Given the description of an element on the screen output the (x, y) to click on. 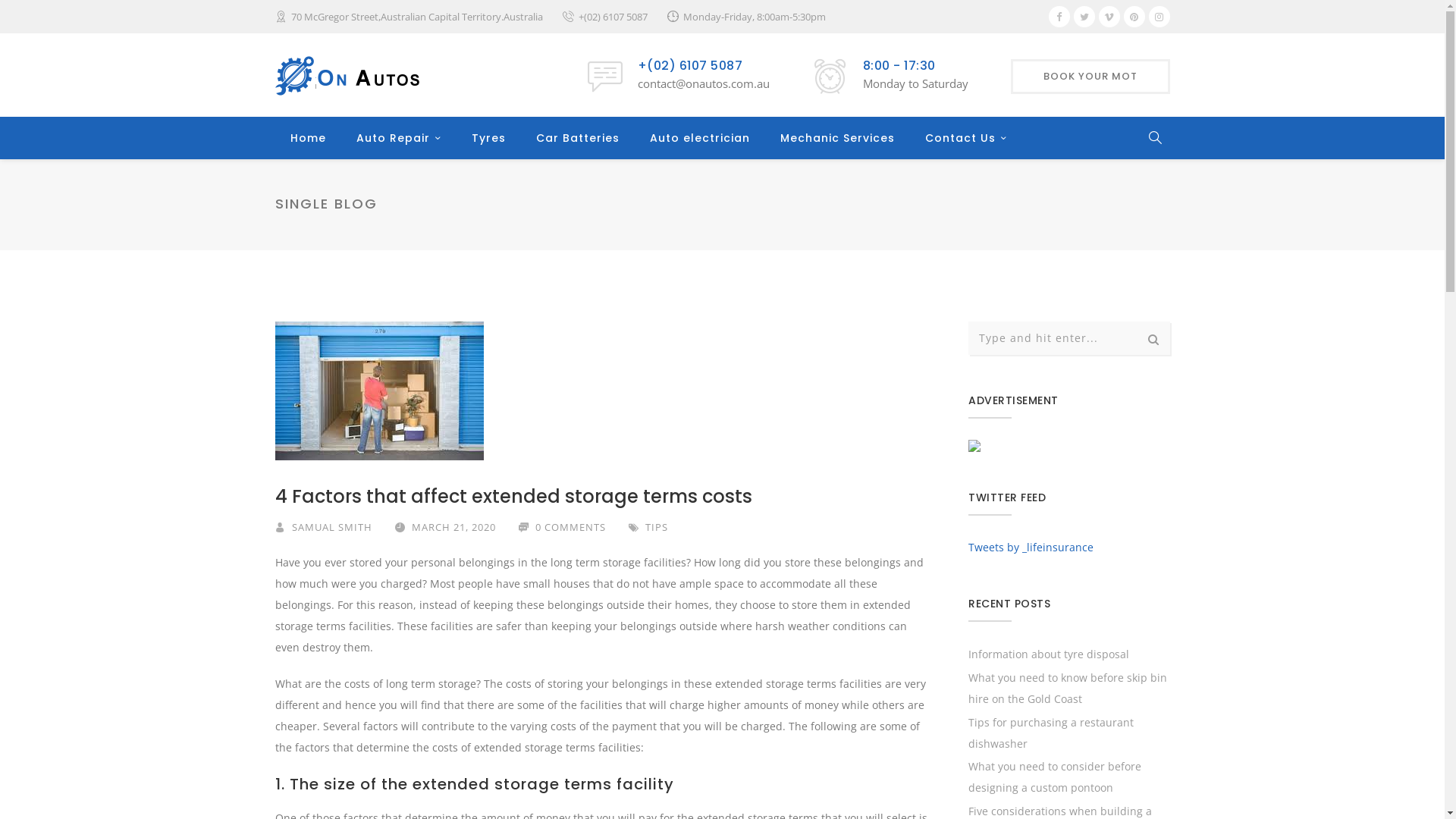
Tweets by _lifeinsurance Element type: text (1030, 546)
TIPS Element type: text (655, 526)
Auto electrician Element type: text (699, 137)
What you need to know before skip bin hire on the Gold Coast Element type: text (1067, 688)
BOOK YOUR MOT Element type: text (1089, 76)
Home Element type: text (307, 137)
Tips for purchasing a restaurant dishwasher Element type: text (1050, 732)
Contact Us Element type: text (966, 137)
Auto Repair Element type: text (398, 137)
Car Batteries Element type: text (576, 137)
Mechanic Services Element type: text (836, 137)
Information about tyre disposal Element type: text (1048, 653)
Tyres Element type: text (488, 137)
What you need to consider before designing a custom pontoon Element type: text (1054, 776)
SAMUAL SMITH Element type: text (331, 526)
